Given the description of an element on the screen output the (x, y) to click on. 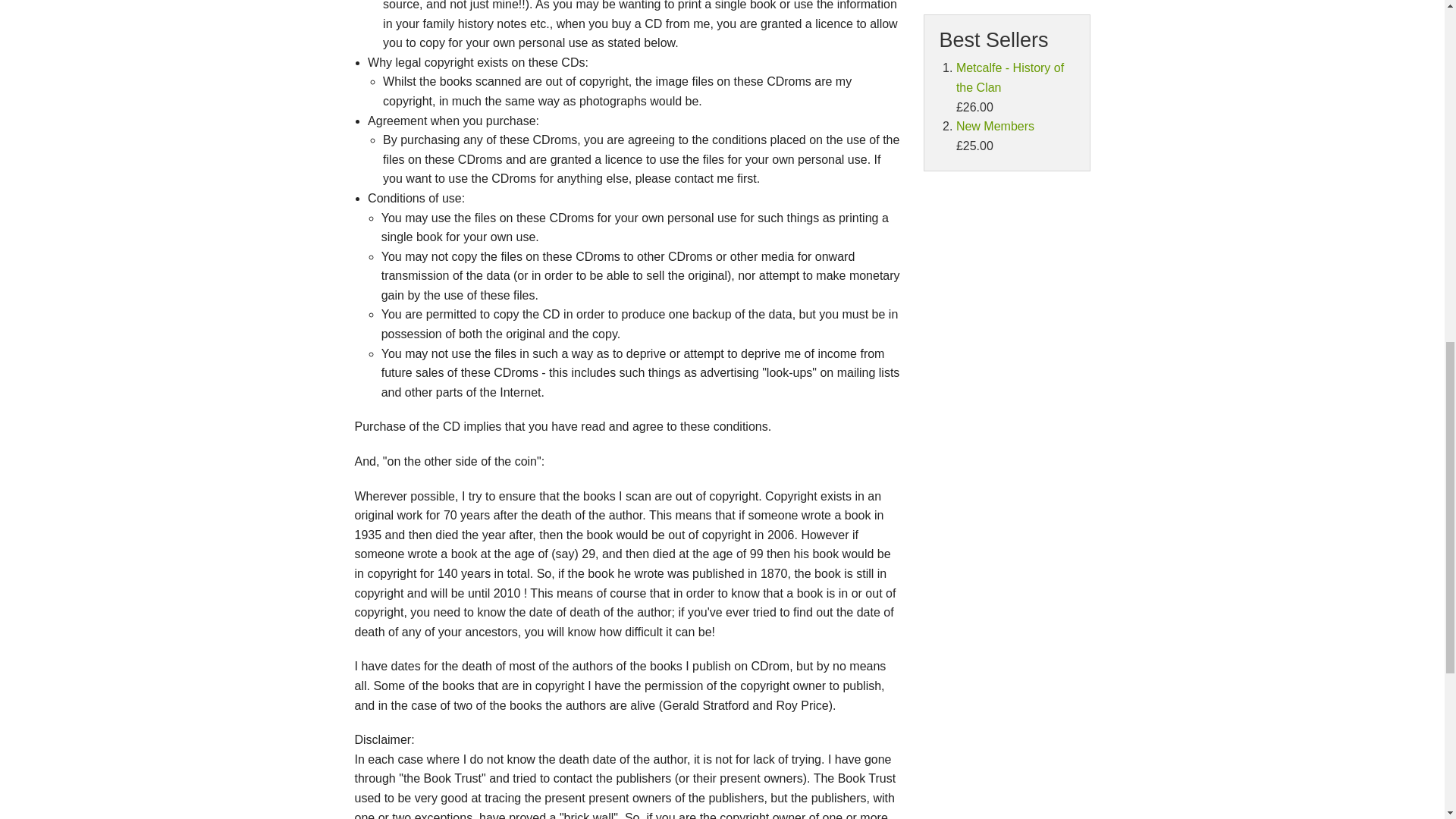
Metcalfe - History of the Clan (1010, 77)
New Members (994, 125)
New Members (994, 125)
Metcalfe - History of the Clan (1010, 77)
